Given the description of an element on the screen output the (x, y) to click on. 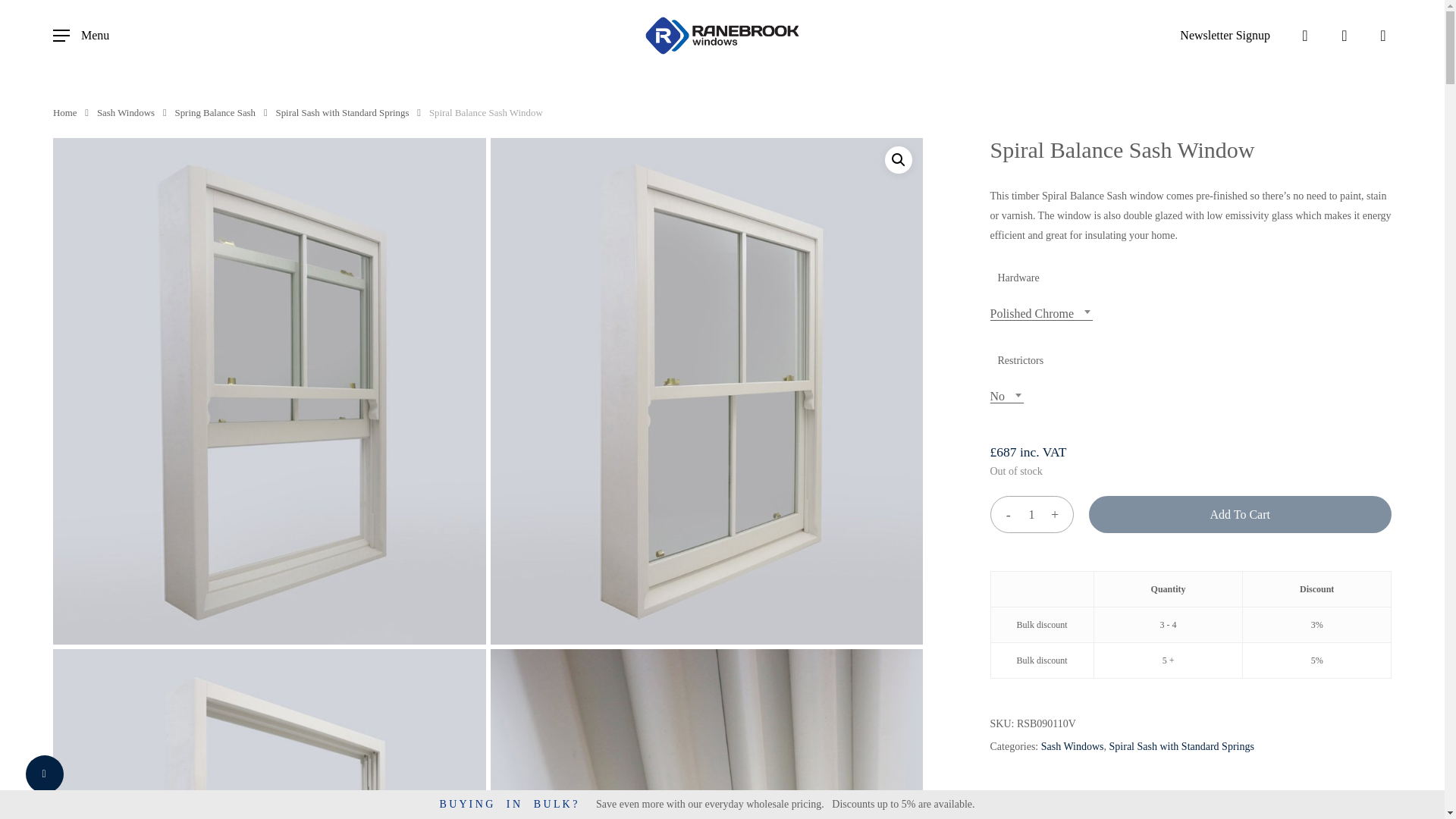
Spiral Sash with Standard Springs (342, 112)
Spring Balance Sash (215, 112)
Newsletter Signup (1224, 35)
No (1007, 396)
Sash Windows (125, 112)
Menu (80, 35)
account (1344, 35)
search (1304, 35)
Polished Chrome (1041, 313)
Home (64, 112)
